Given the description of an element on the screen output the (x, y) to click on. 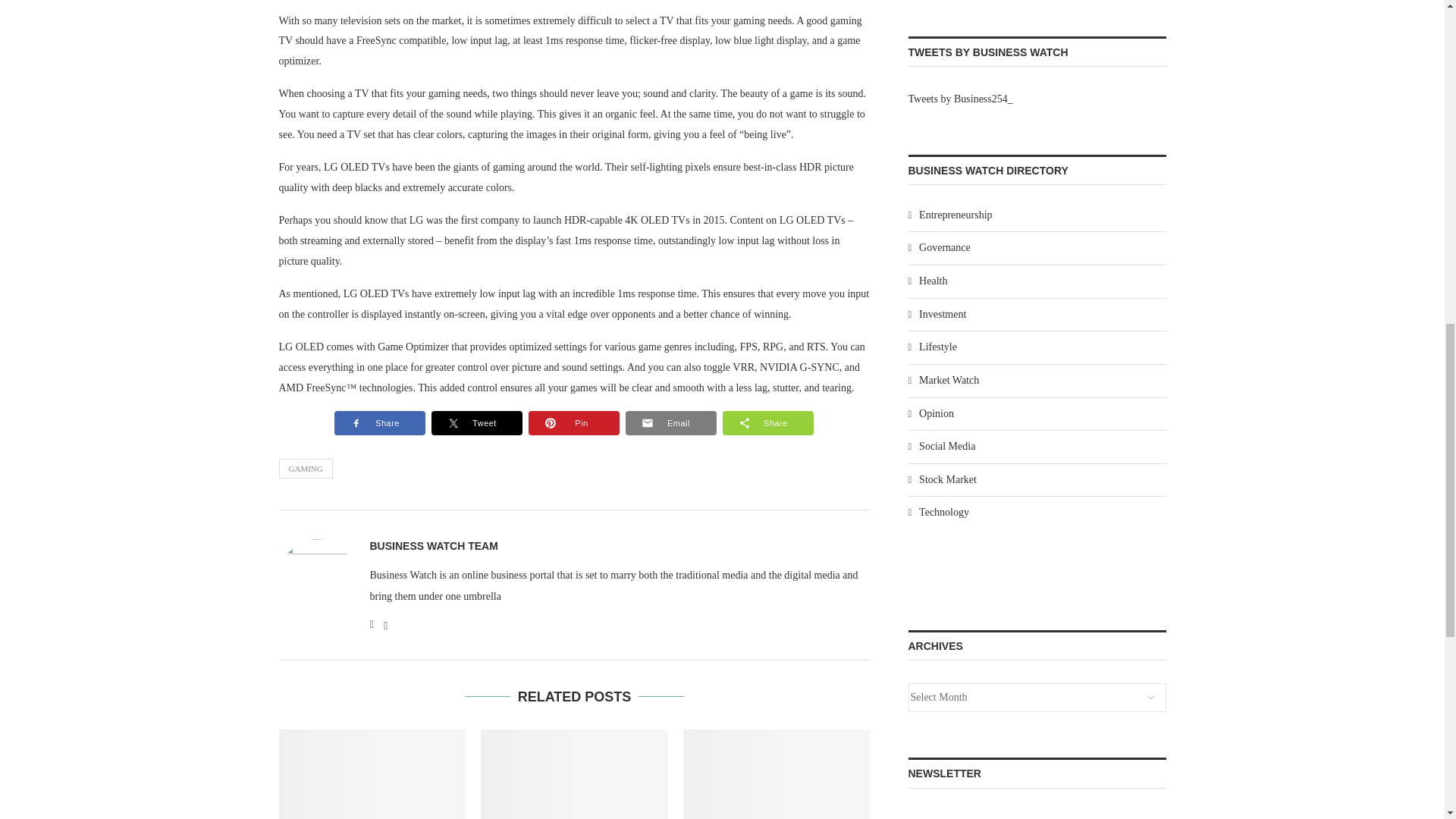
APA Life Assurance Bolsters Ruth Youth Team To Gothia Cup (574, 774)
HMD Launches A Phone That Has A Digital Detox (372, 774)
Author Business Watch Team (433, 545)
